Given the description of an element on the screen output the (x, y) to click on. 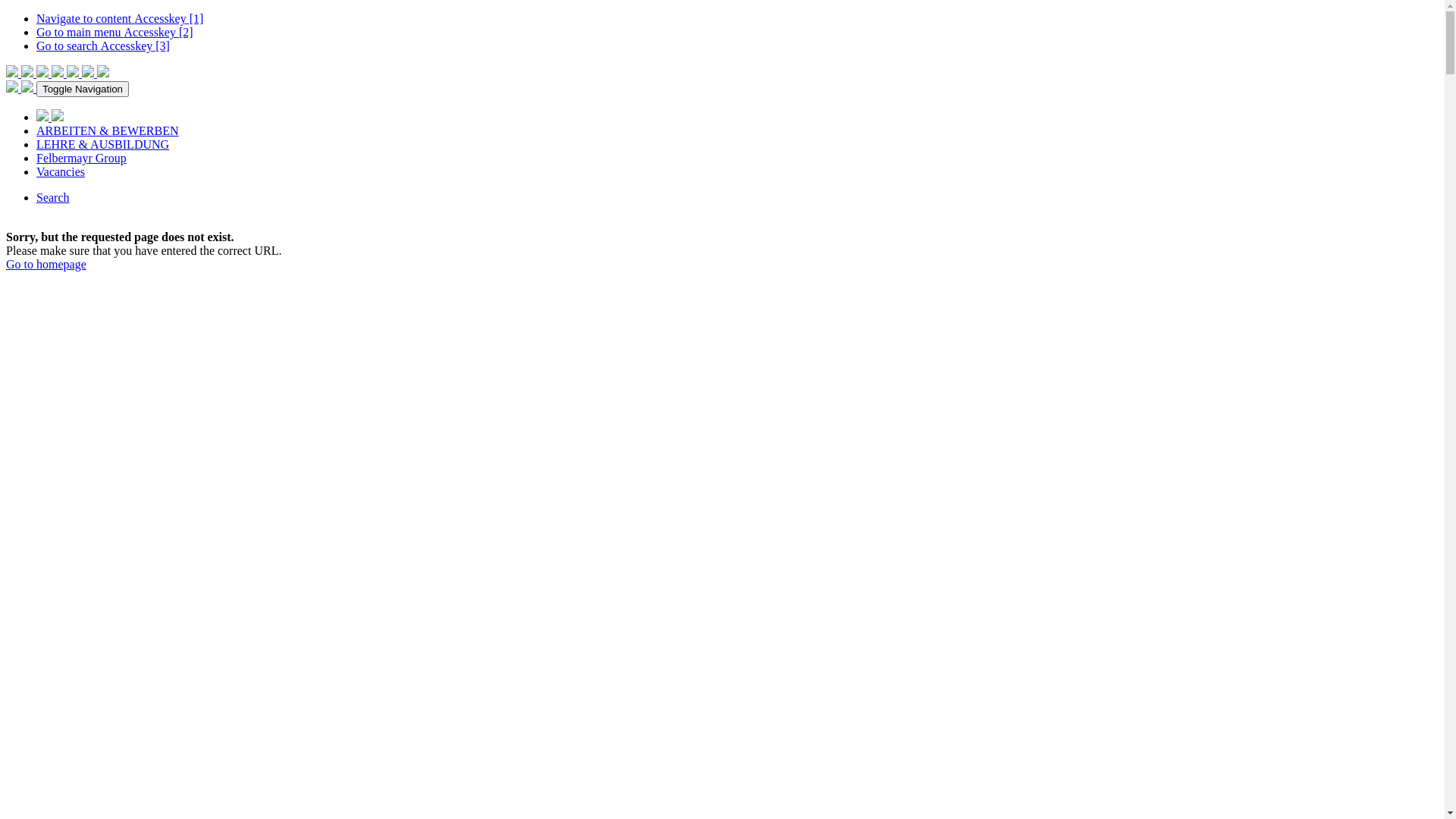
Felbermayr Group Element type: text (81, 157)
ARBEITEN & BEWERBEN Element type: text (107, 130)
Toggle Navigation Element type: text (82, 89)
Search Element type: text (52, 197)
Vacancies Element type: text (60, 171)
Go to homepage Element type: text (46, 263)
LEHRE & AUSBILDUNG Element type: text (102, 144)
Go to search Accesskey [3] Element type: text (102, 45)
Navigate to content Accesskey [1] Element type: text (119, 18)
Go to main menu Accesskey [2] Element type: text (114, 31)
